Given the description of an element on the screen output the (x, y) to click on. 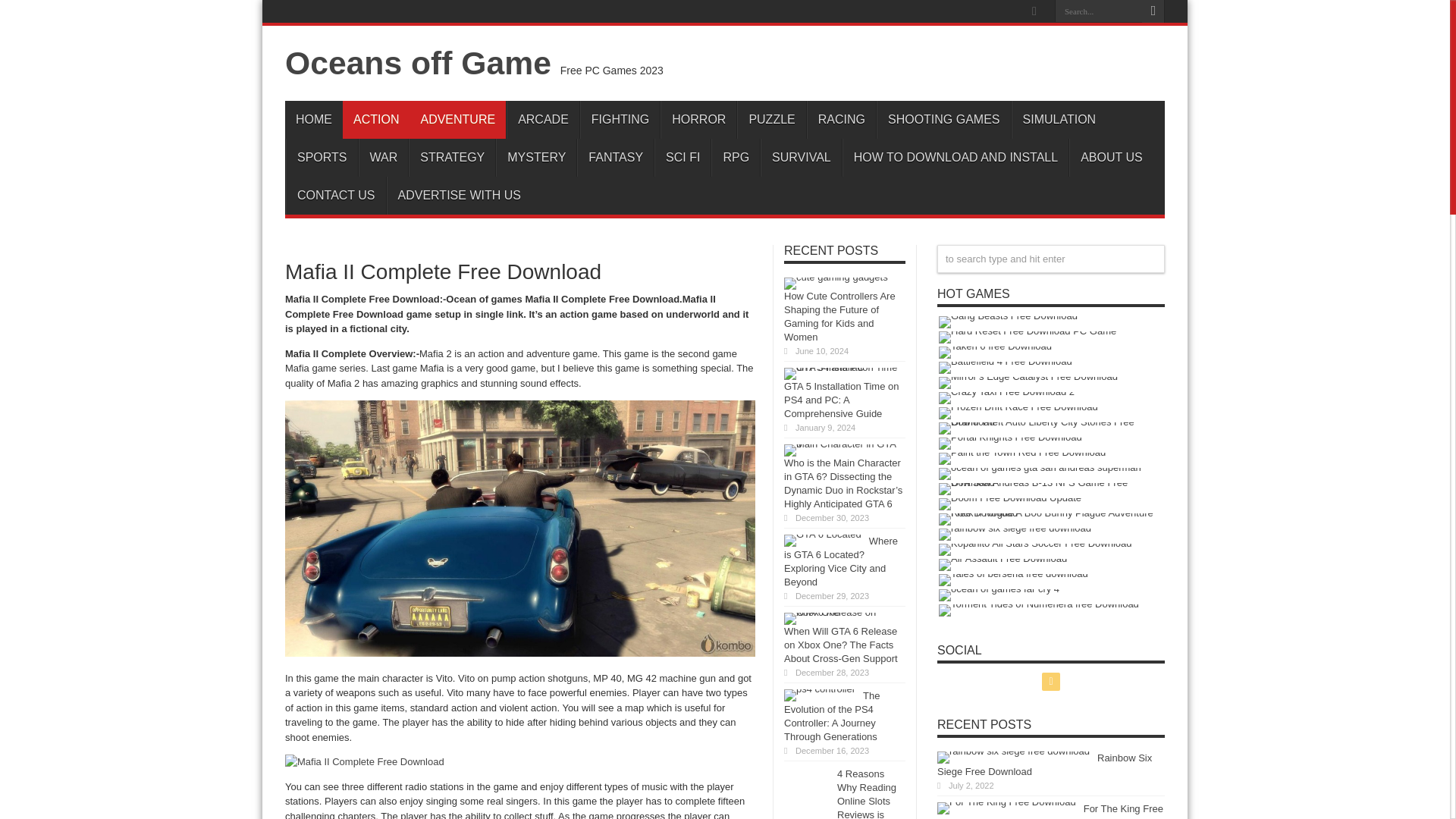
FANTASY (614, 157)
WAR (382, 157)
Mafia II Complete Free Download1 (364, 761)
Mafia II Complete Free Download (520, 528)
Search (1152, 11)
Search... (1097, 11)
PUZZLE (770, 119)
SCI FI (681, 157)
FIGHTING (619, 119)
RPG (735, 157)
